Given the description of an element on the screen output the (x, y) to click on. 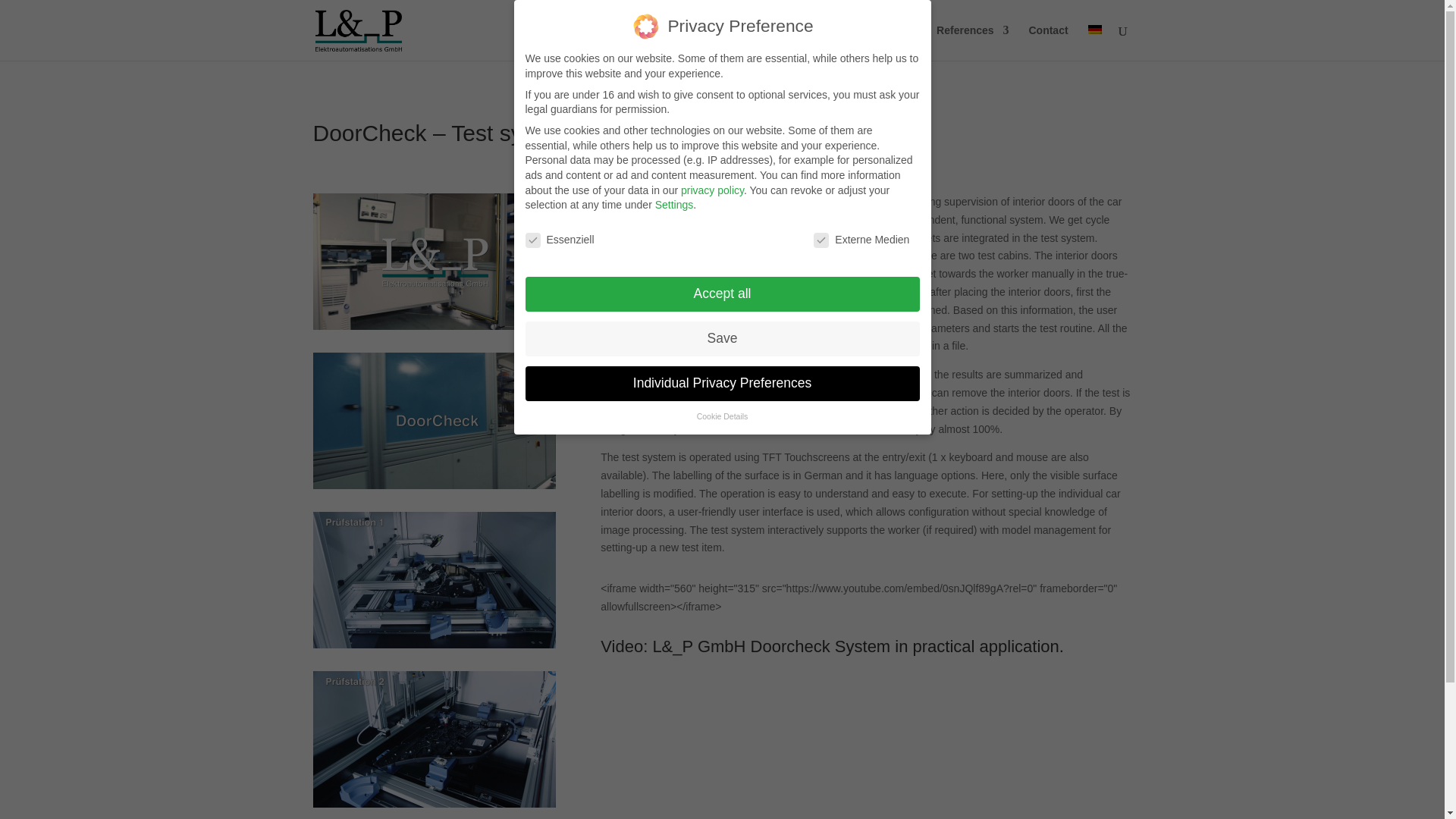
Products (827, 42)
Contact (1047, 42)
Company (745, 42)
References (972, 42)
Catalog (897, 42)
